Given the description of an element on the screen output the (x, y) to click on. 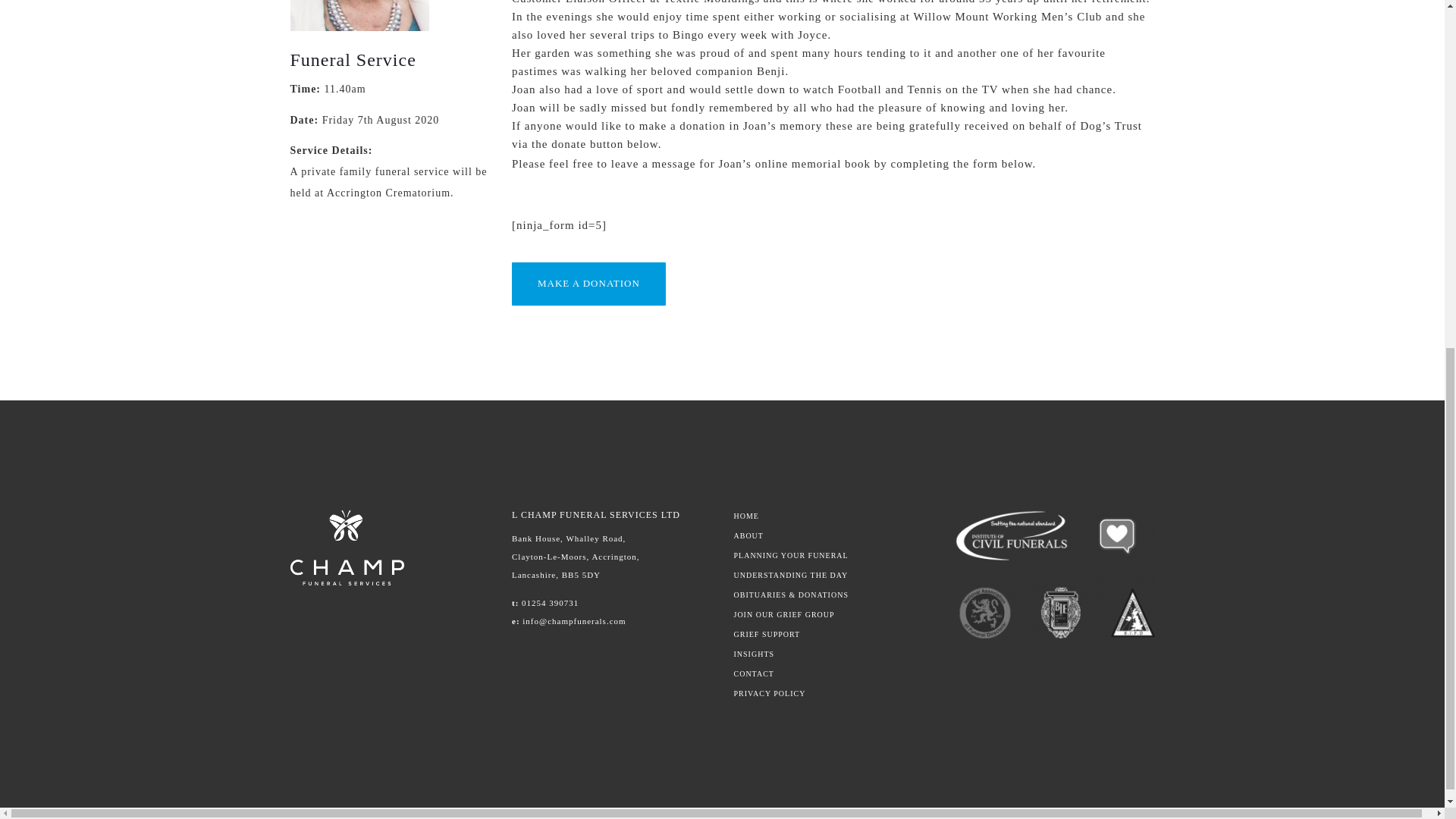
01254 390731 (549, 602)
INSIGHTS (833, 654)
GRIEF SUPPORT (833, 634)
PLANNING YOUR FUNERAL (833, 555)
JOIN OUR GRIEF GROUP (833, 614)
UNDERSTANDING THE DAY (833, 575)
MAKE A DONATION (588, 283)
HOME (833, 516)
ABOUT (833, 535)
CONTACT (833, 674)
PRIVACY POLICY (833, 693)
